Given the description of an element on the screen output the (x, y) to click on. 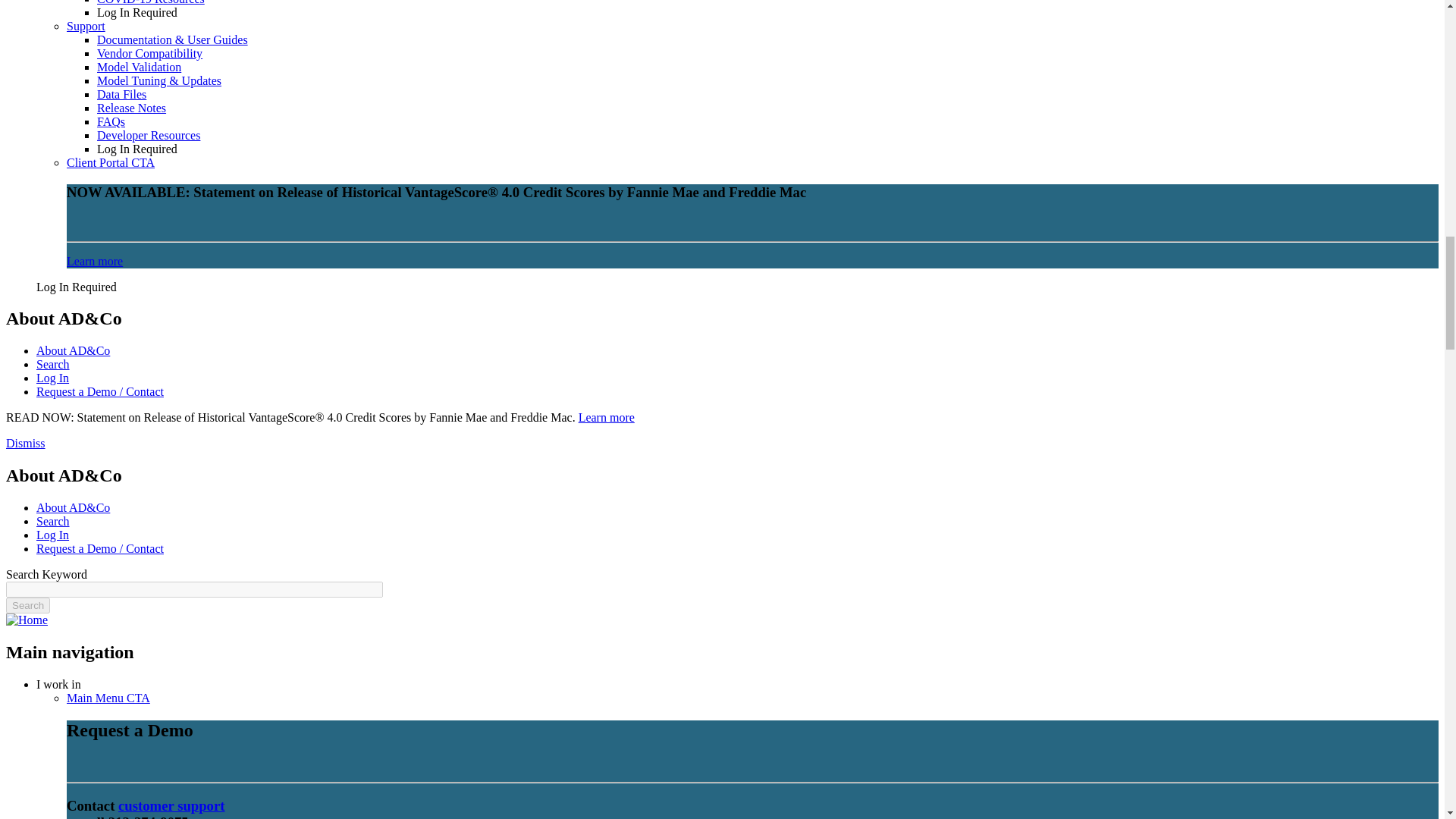
Search (27, 605)
